Given the description of an element on the screen output the (x, y) to click on. 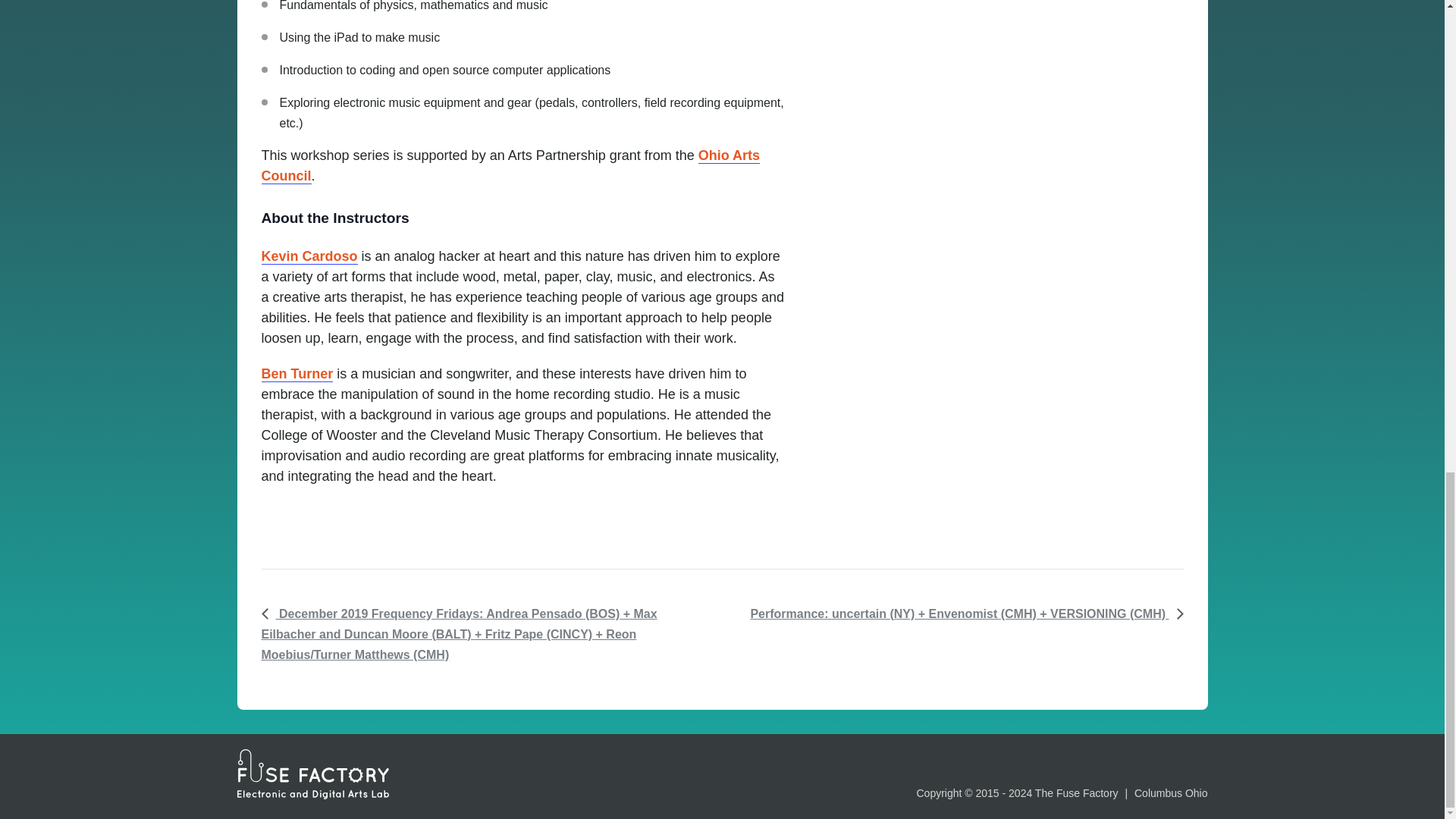
Ben Turner (296, 374)
Ohio Arts Council (510, 166)
Kevin Cardoso (308, 256)
Fuse Factory (311, 774)
